Given the description of an element on the screen output the (x, y) to click on. 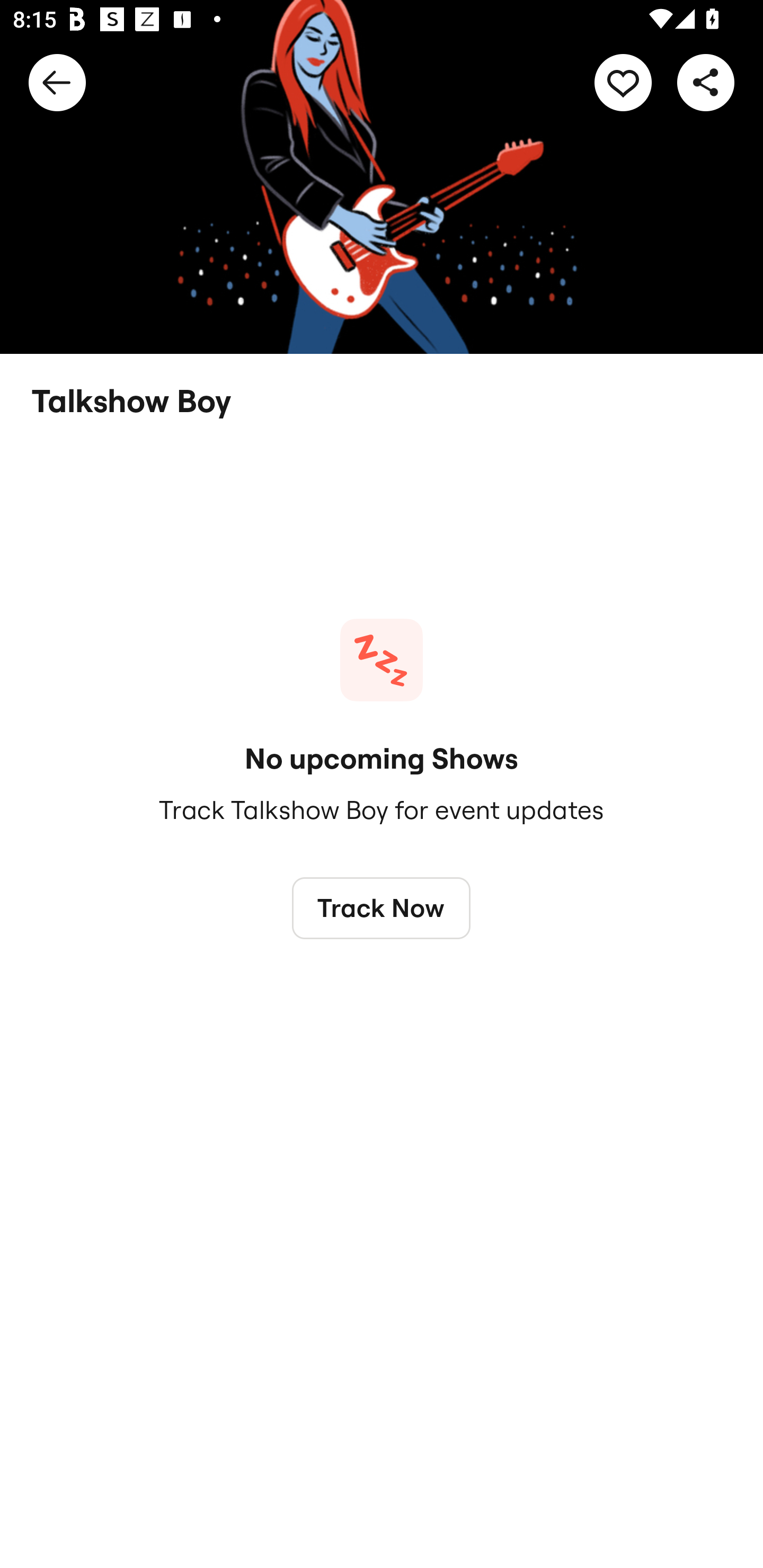
Back (57, 81)
Track this performer (623, 81)
Share this performer (705, 81)
Track Now (381, 907)
